Given the description of an element on the screen output the (x, y) to click on. 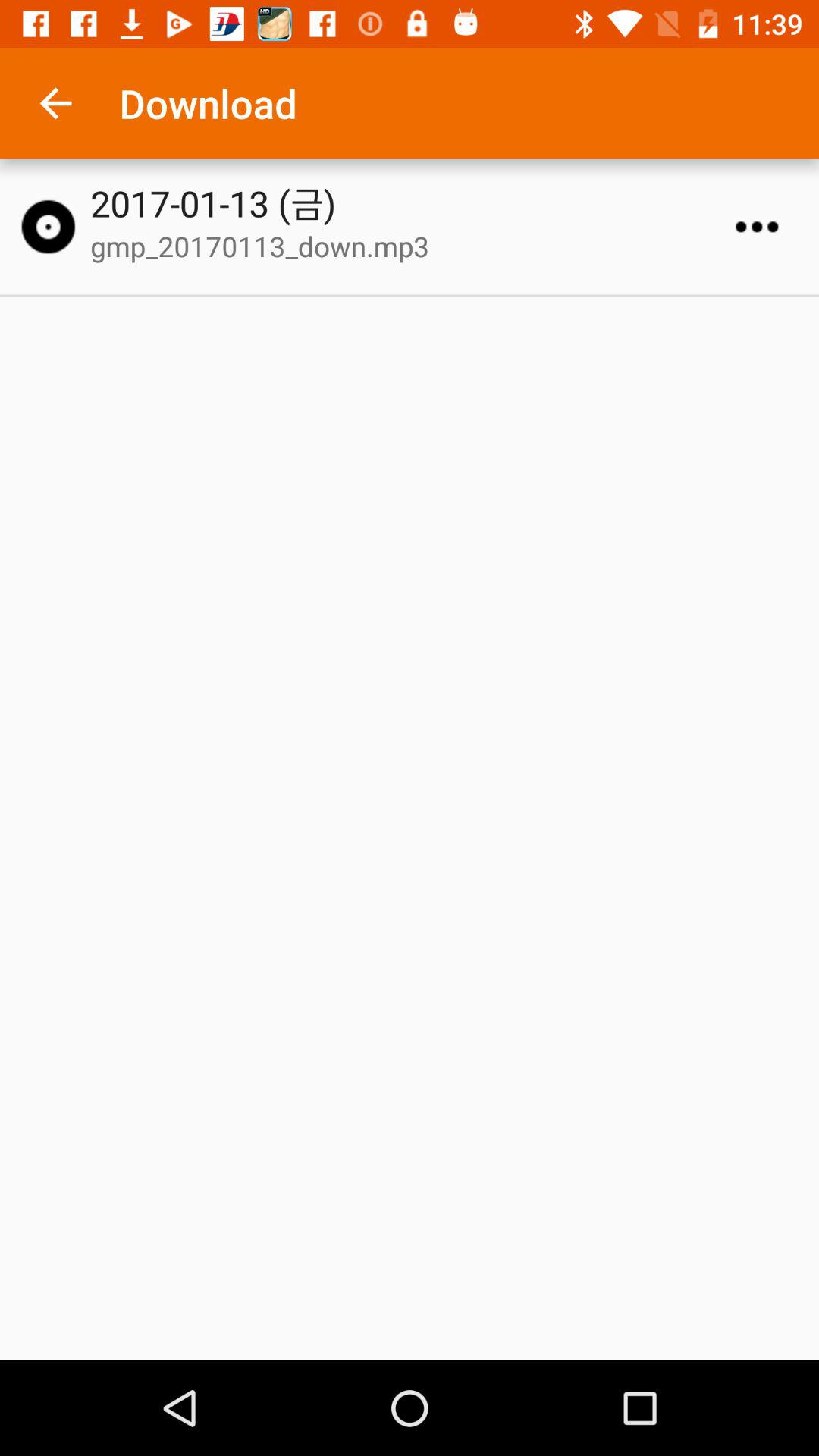
open the icon at the top right corner (756, 226)
